Given the description of an element on the screen output the (x, y) to click on. 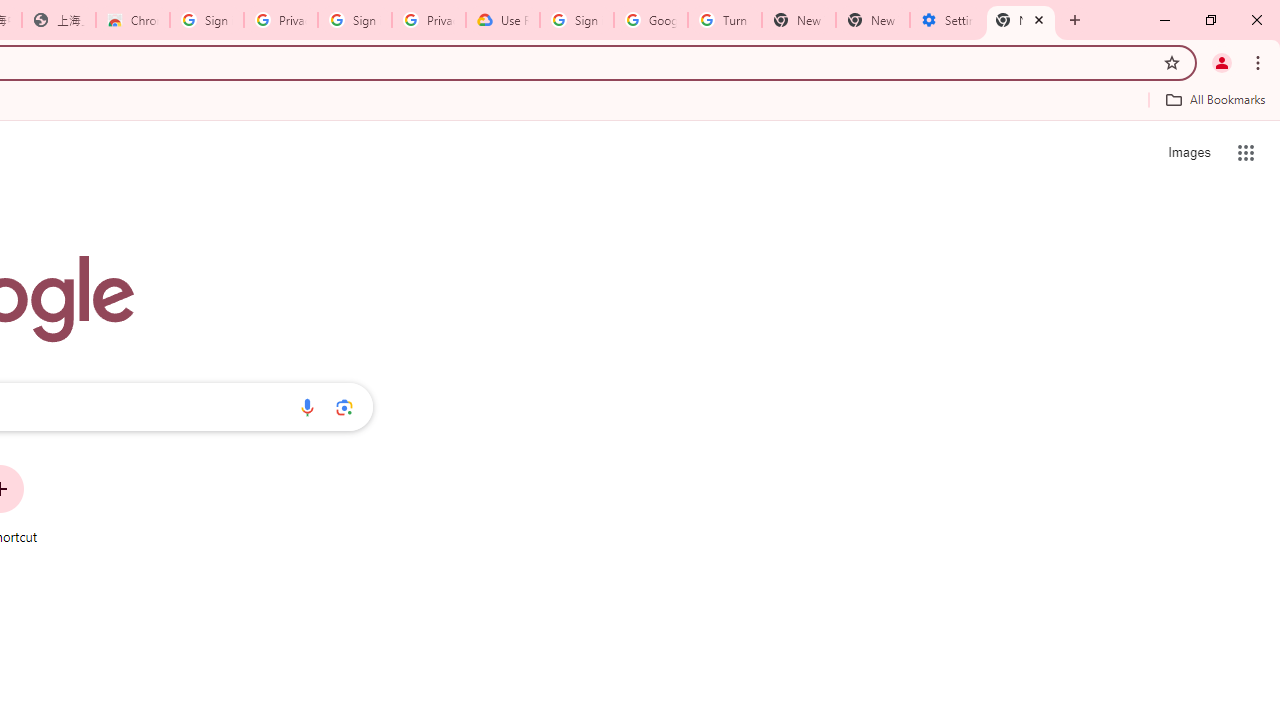
New Tab (1021, 20)
Settings - System (947, 20)
Chrome Web Store - Color themes by Chrome (133, 20)
Google Account Help (651, 20)
Sign in - Google Accounts (207, 20)
